Given the description of an element on the screen output the (x, y) to click on. 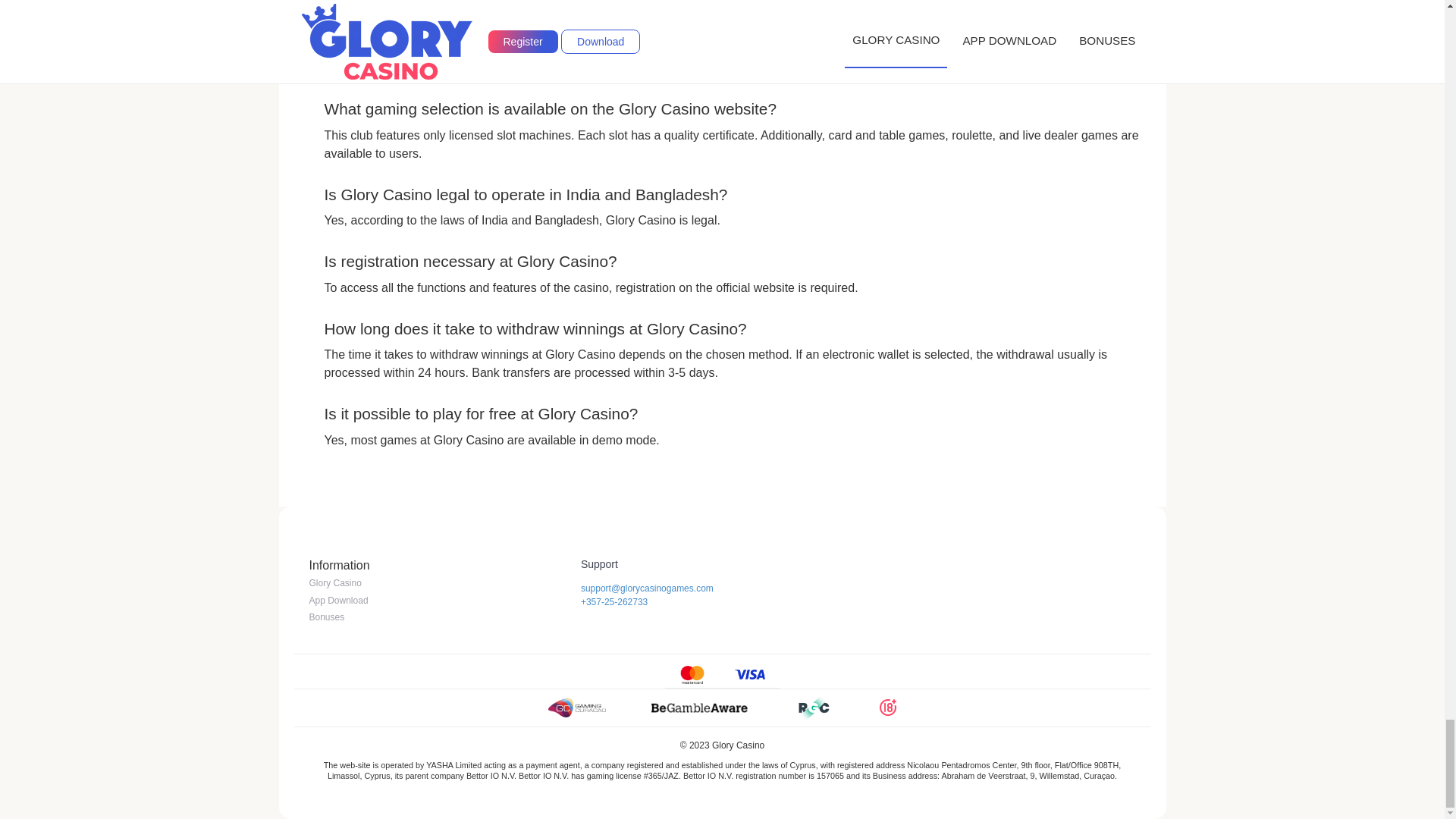
Glory Casino (334, 582)
App Download (338, 600)
Bonuses (326, 617)
